Given the description of an element on the screen output the (x, y) to click on. 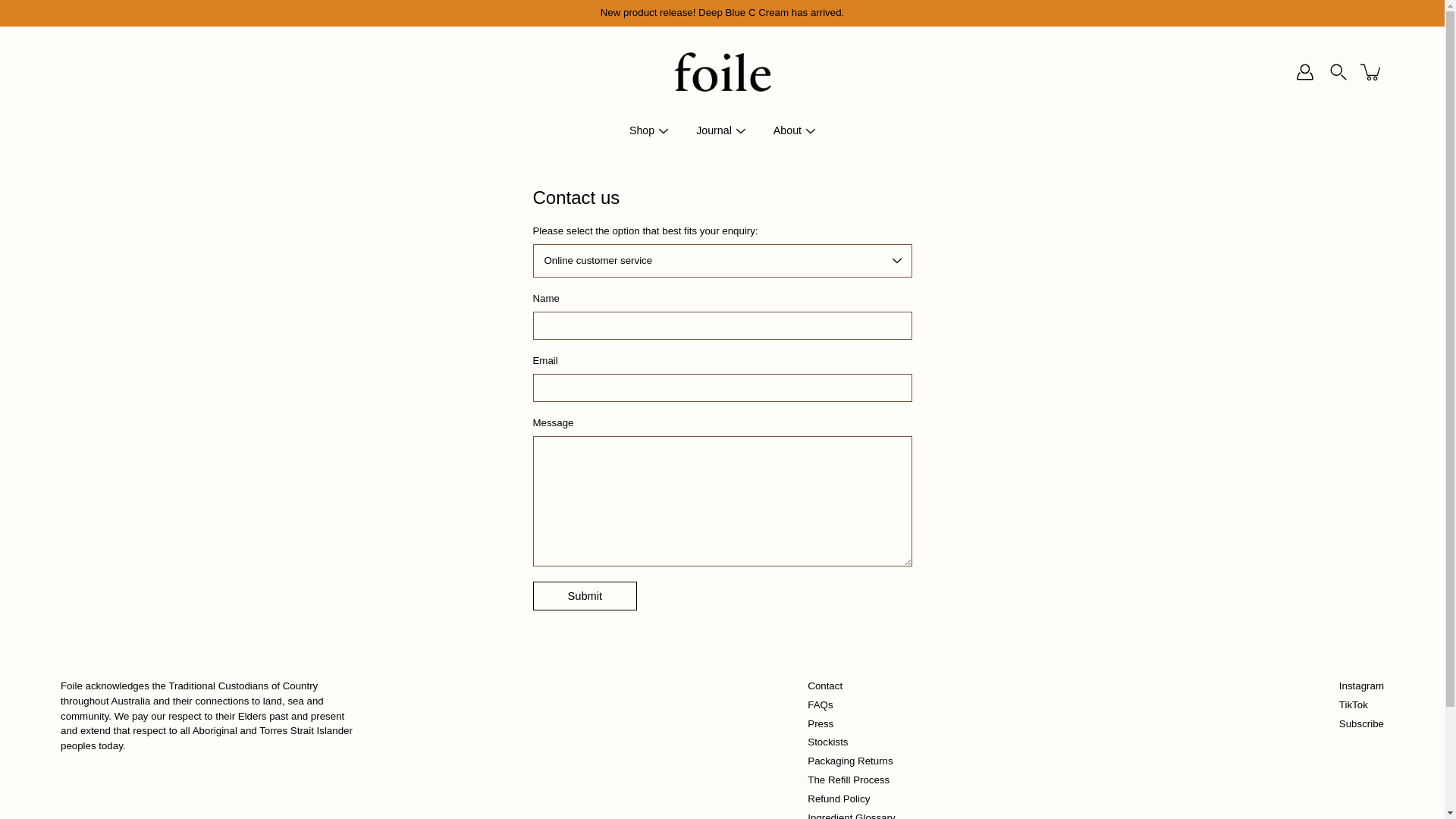
Instagram Element type: text (1361, 685)
New product release! Deep Blue C Cream has arrived. Element type: text (721, 12)
About Element type: text (787, 130)
Subscribe Element type: text (1361, 723)
TikTok Element type: text (1353, 704)
Contact Element type: text (824, 685)
Journal Element type: text (713, 130)
Stockists Element type: text (827, 741)
Packaging Returns Element type: text (849, 760)
The Refill Process Element type: text (848, 779)
Shop Element type: text (641, 130)
FAQs Element type: text (819, 704)
Refund Policy Element type: text (838, 798)
Press Element type: text (820, 723)
Submit Element type: text (584, 595)
